Given the description of an element on the screen output the (x, y) to click on. 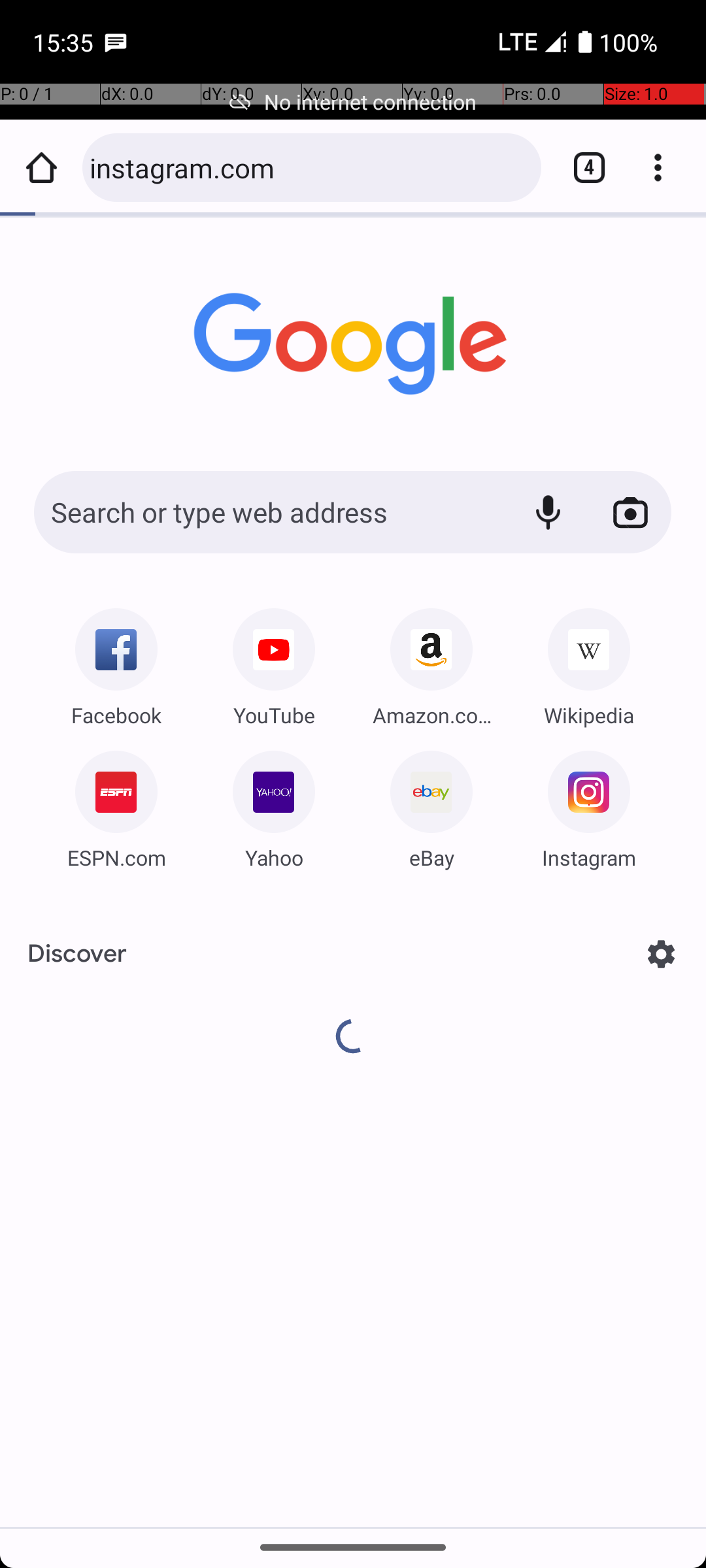
instagram.com Element type: android.widget.EditText (308, 167)
